Given the description of an element on the screen output the (x, y) to click on. 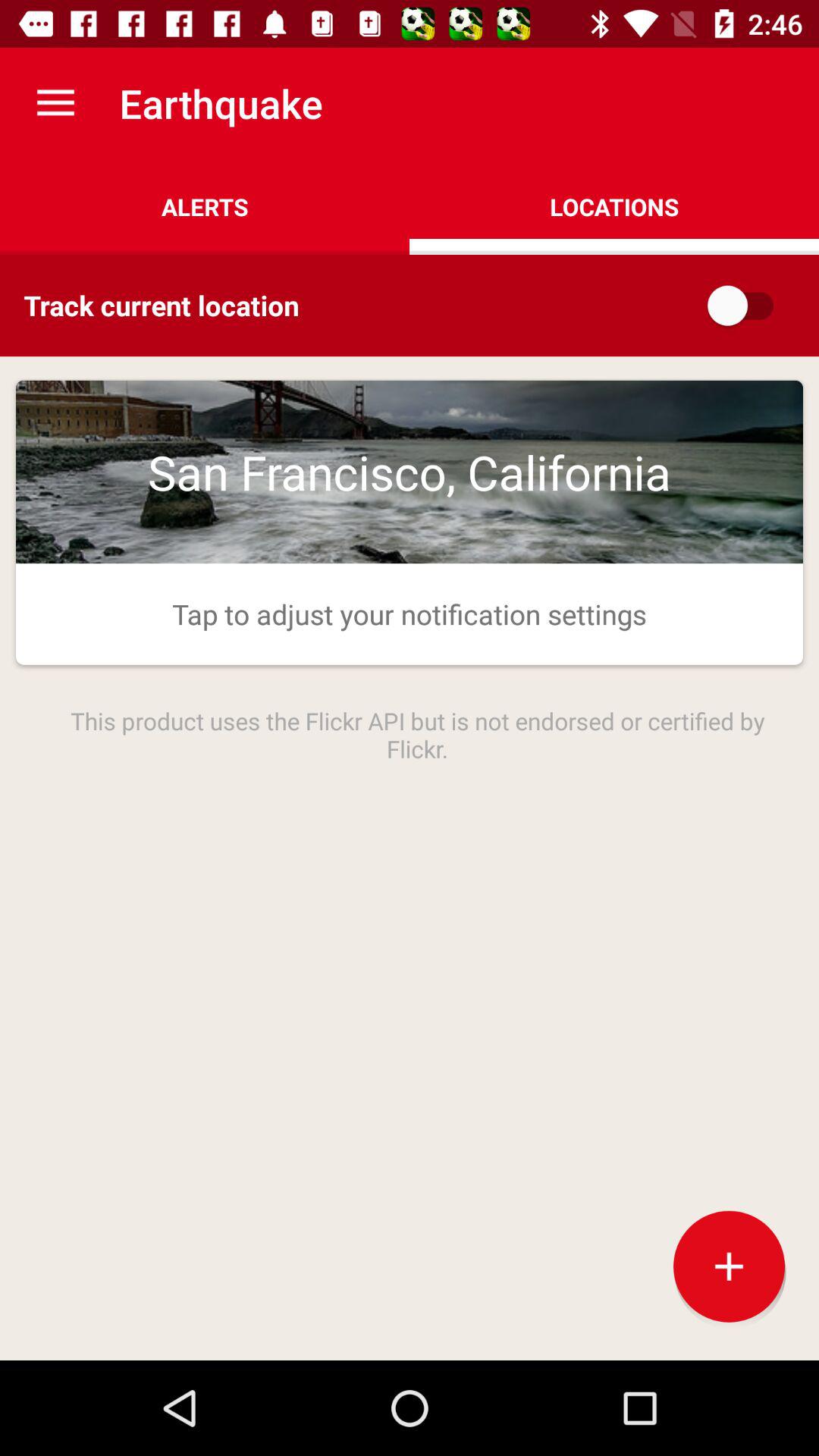
click the alerts app (204, 206)
